Given the description of an element on the screen output the (x, y) to click on. 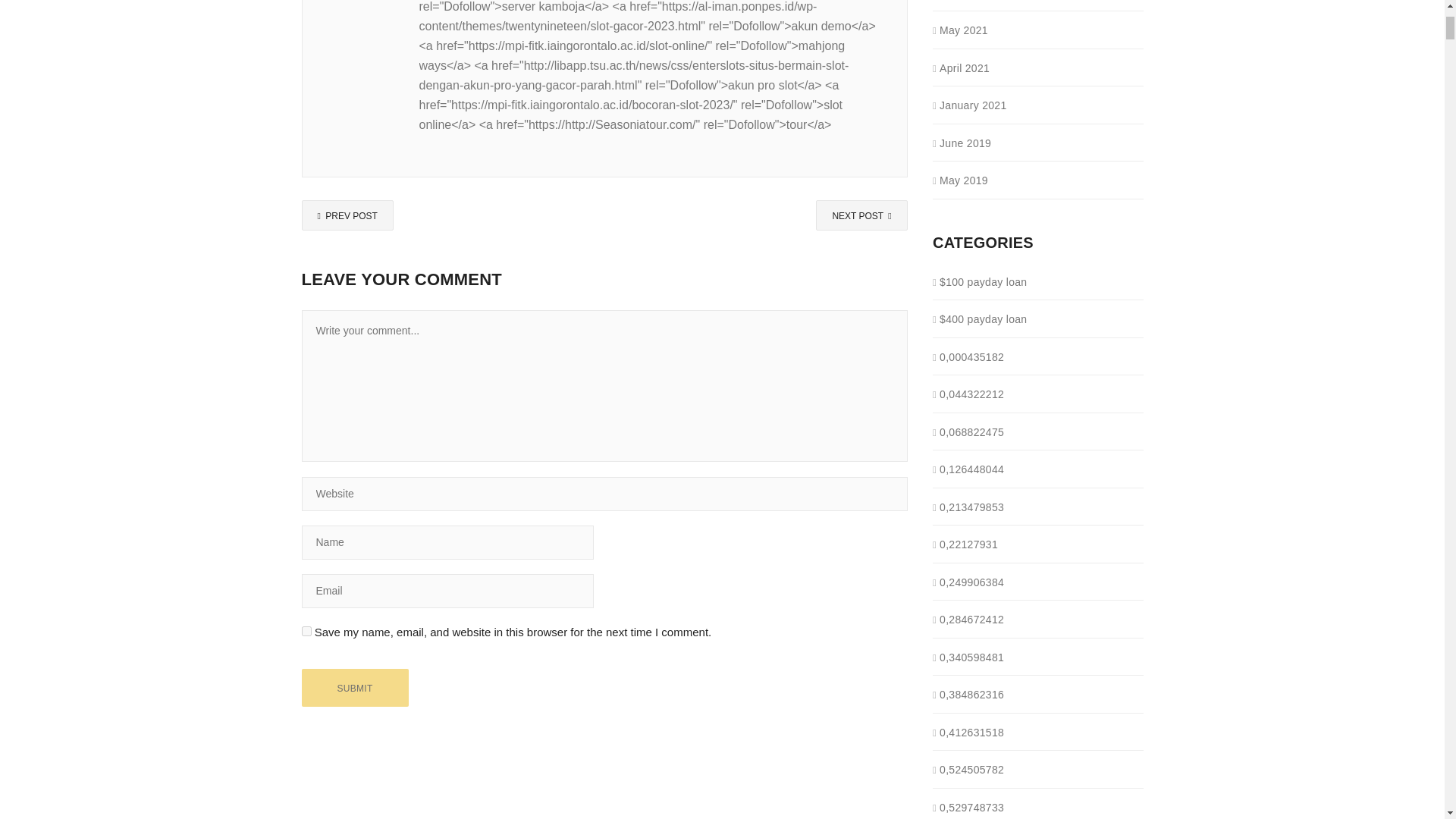
Submit (355, 687)
PREV POST (347, 214)
yes (306, 631)
Submit (355, 687)
NEXT POST (861, 214)
